Given the description of an element on the screen output the (x, y) to click on. 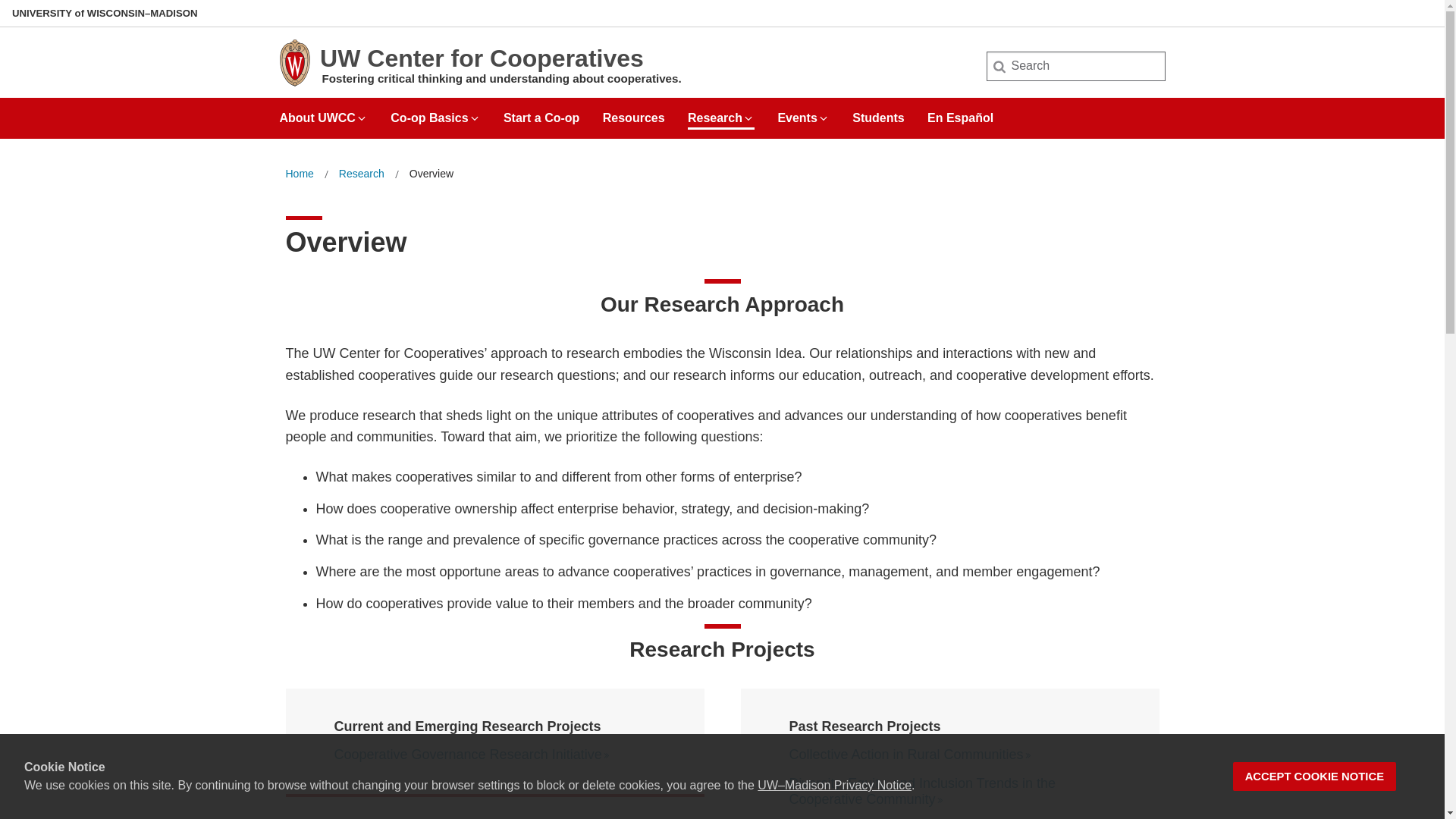
Expand (474, 118)
About UWCC Expand (322, 112)
Co-op Basics Expand (435, 112)
Research Expand (720, 112)
Overview (430, 173)
Expand (361, 118)
Skip to main content (3, 3)
Research (361, 173)
Start a Co-op (541, 112)
Resources (633, 112)
Expand (822, 118)
Expand (748, 118)
Events Expand (802, 112)
More (606, 755)
More (940, 799)
